Given the description of an element on the screen output the (x, y) to click on. 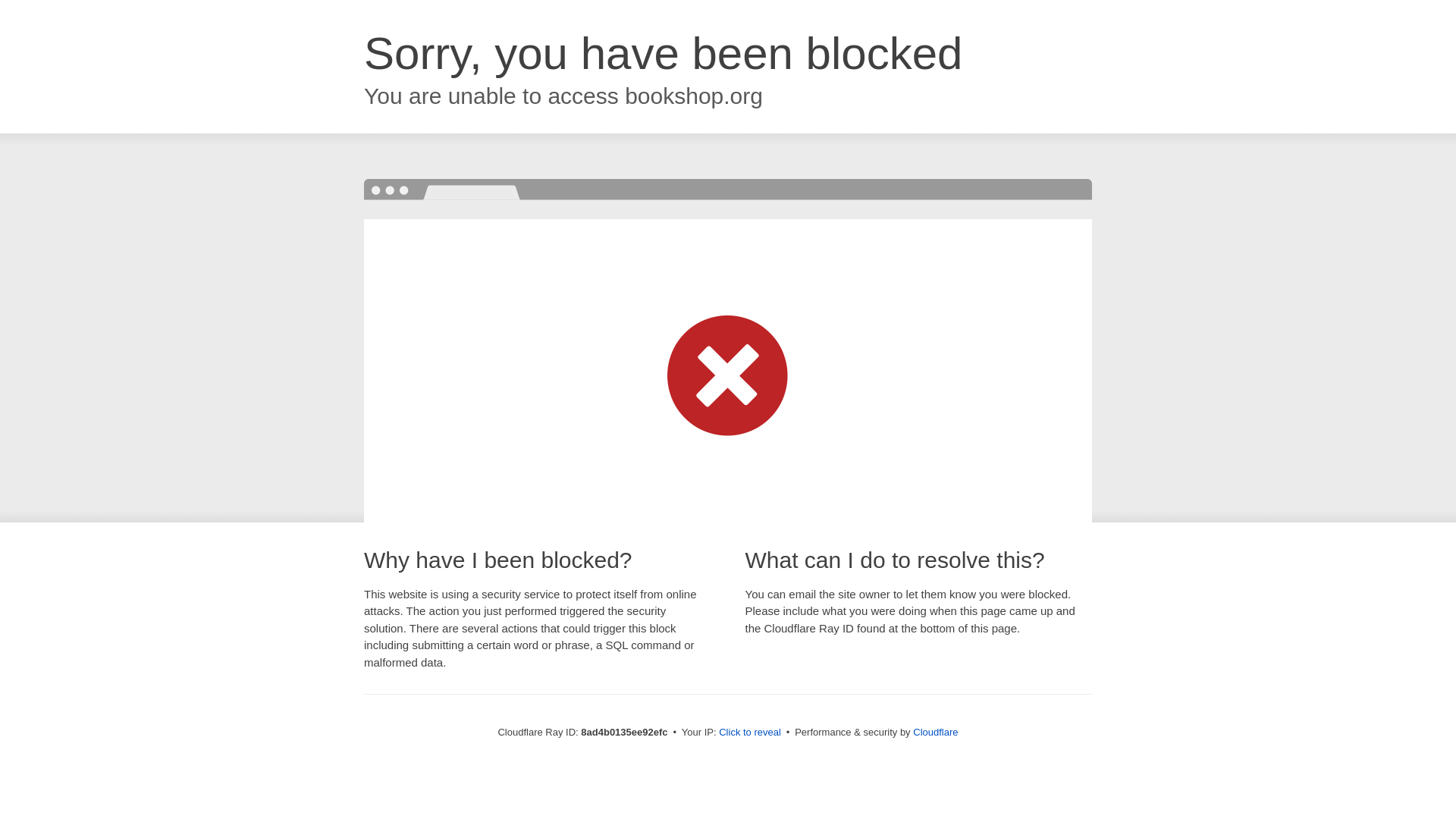
Click to reveal (749, 732)
Cloudflare (935, 731)
